Given the description of an element on the screen output the (x, y) to click on. 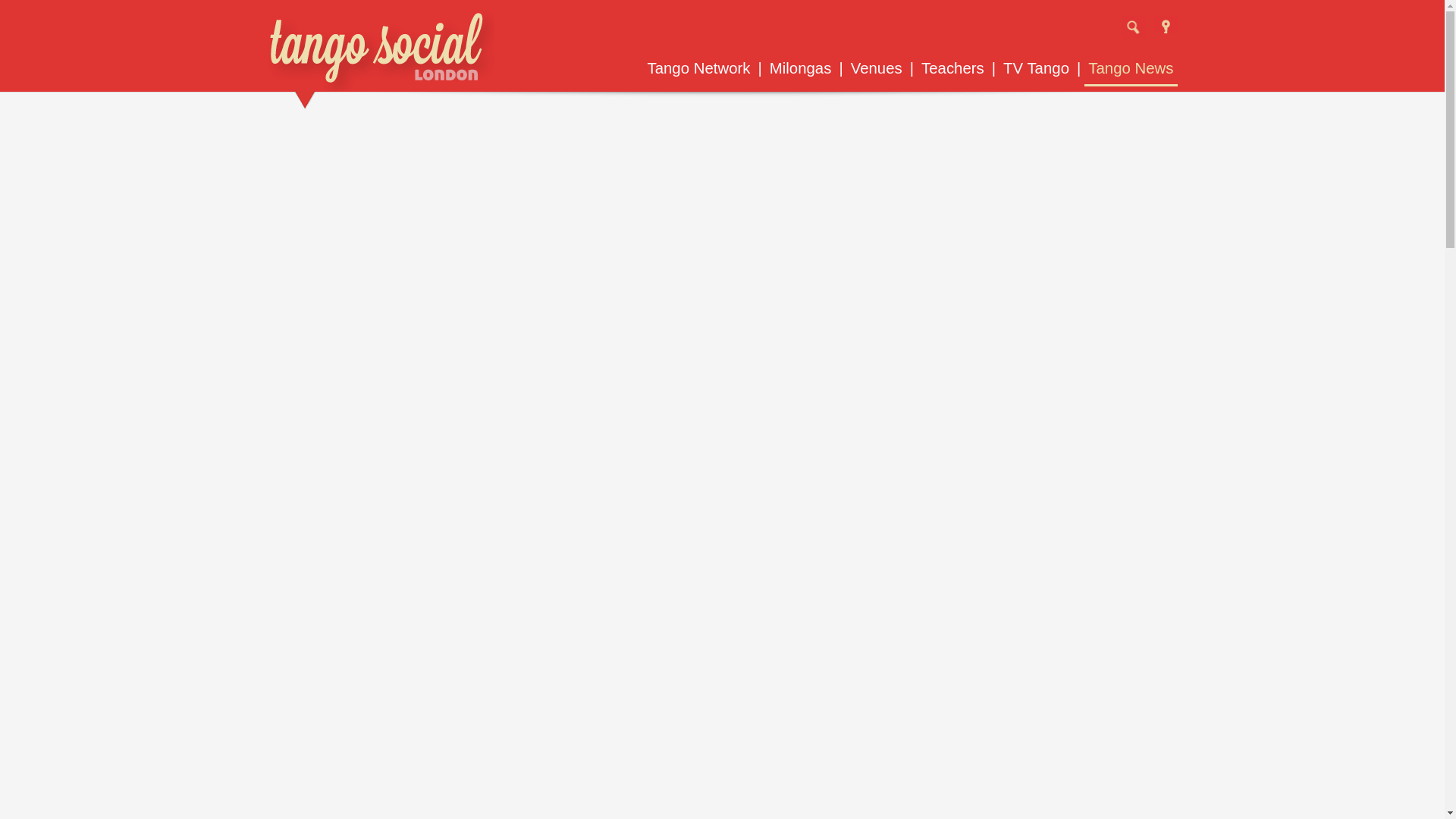
Milongas (800, 67)
Venues (876, 67)
Tango News (1130, 67)
Teachers (952, 67)
Tango Network (698, 67)
Click to Search (1132, 25)
TV Tango (1035, 67)
Click to Login (1164, 20)
